Given the description of an element on the screen output the (x, y) to click on. 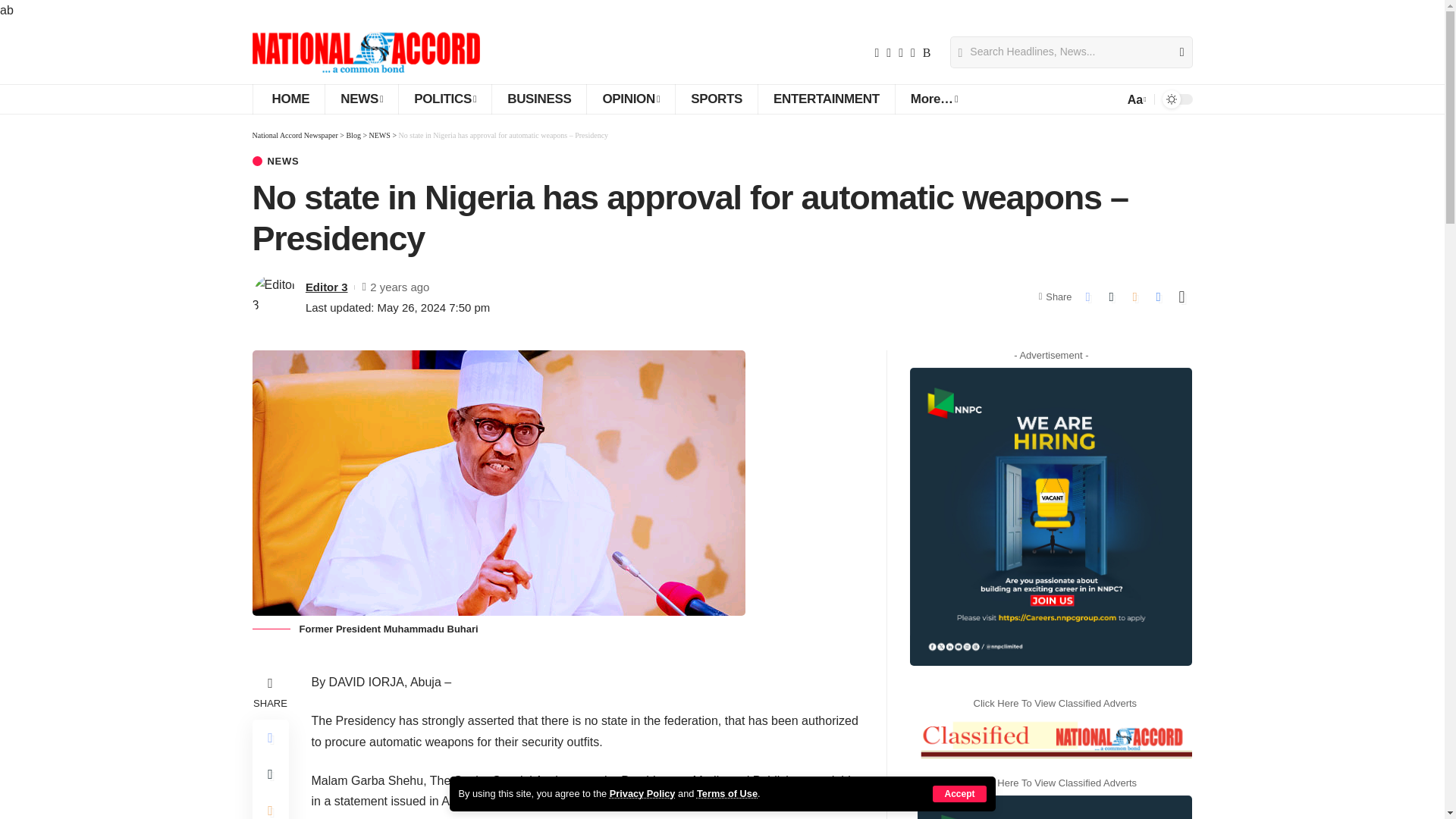
ENTERTAINMENT (826, 99)
BUSINESS (539, 99)
SPORTS (716, 99)
Accept (959, 793)
Search (1175, 51)
Go to the NEWS Category archives. (379, 135)
National Accord Newspaper (365, 51)
Privacy Policy (642, 793)
POLITICS (444, 99)
Go to National Accord Newspaper. (294, 135)
NEWS (360, 99)
HOME (287, 99)
OPINION (630, 99)
Terms of Use (727, 793)
Go to Blog. (352, 135)
